Given the description of an element on the screen output the (x, y) to click on. 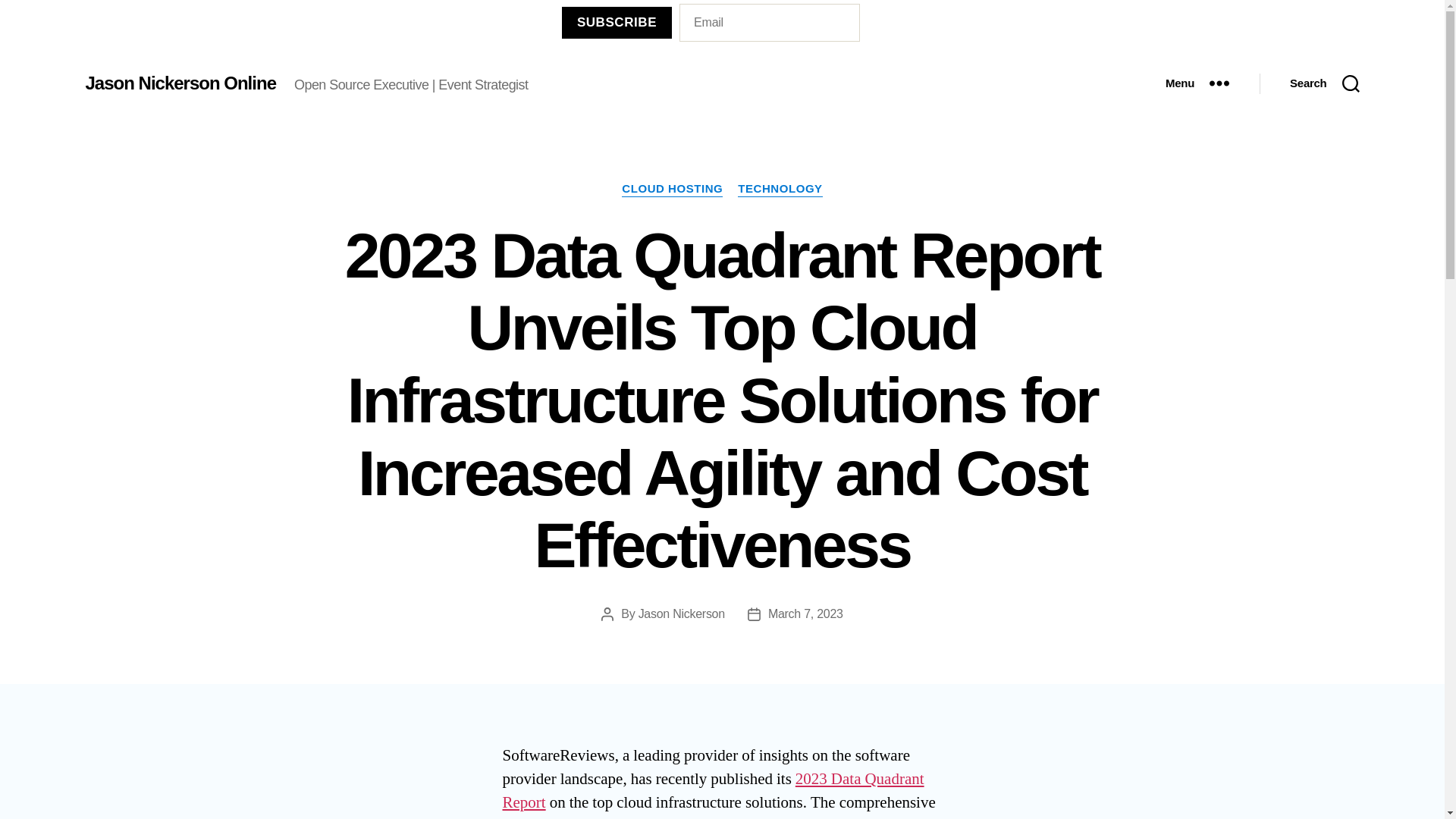
CLOUD HOSTING (671, 189)
Jason Nickerson (682, 613)
TECHNOLOGY (780, 189)
SUBSCRIBE (616, 21)
Jason Nickerson Online (179, 83)
March 7, 2023 (805, 613)
Menu (1197, 82)
Search (1324, 82)
2023 Data Quadrant Report (712, 791)
